Given the description of an element on the screen output the (x, y) to click on. 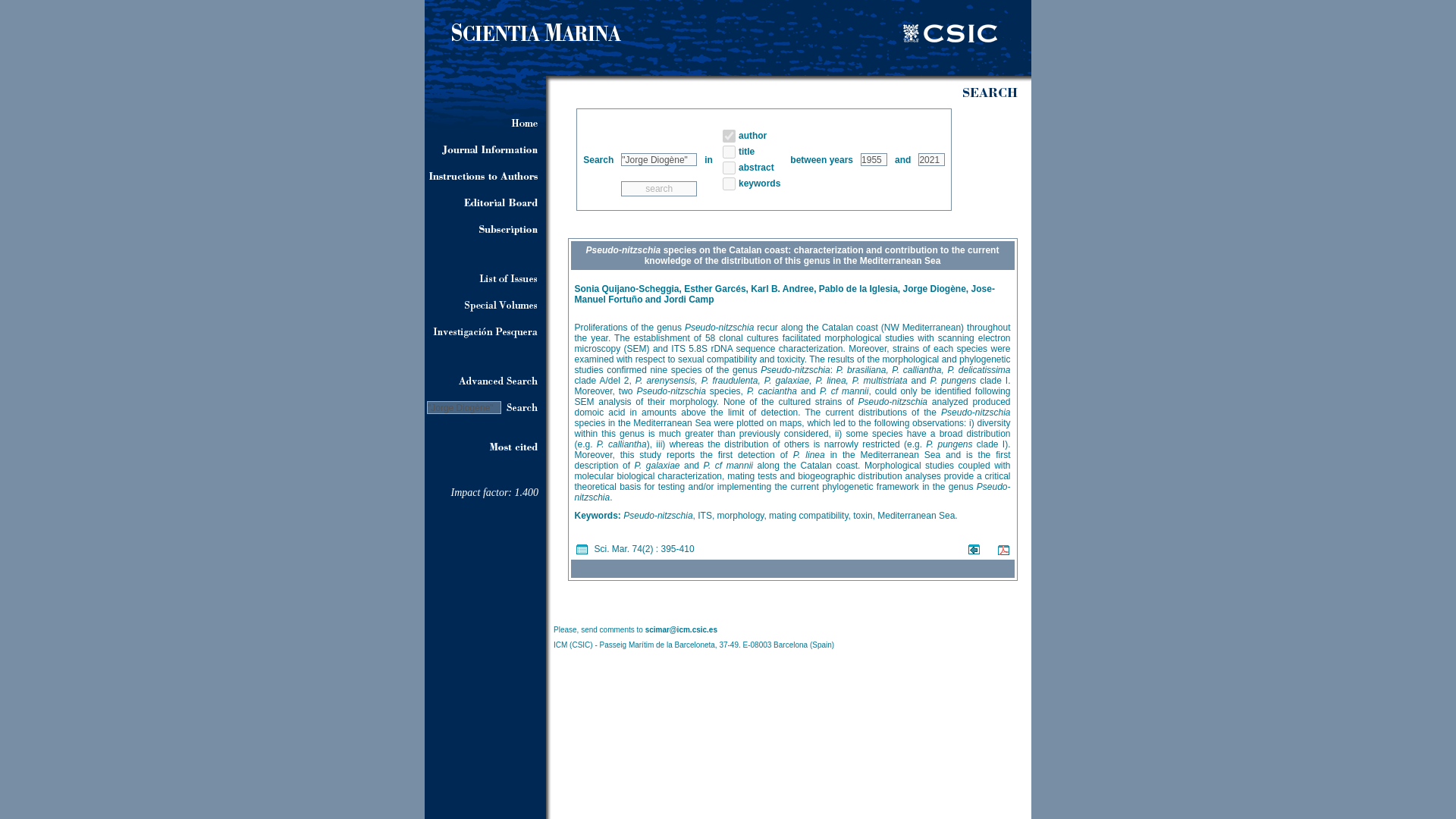
1 (728, 151)
search (659, 188)
1 (728, 134)
1 (728, 183)
2021 (931, 159)
1 (728, 166)
1955 (873, 159)
search (659, 188)
